Given the description of an element on the screen output the (x, y) to click on. 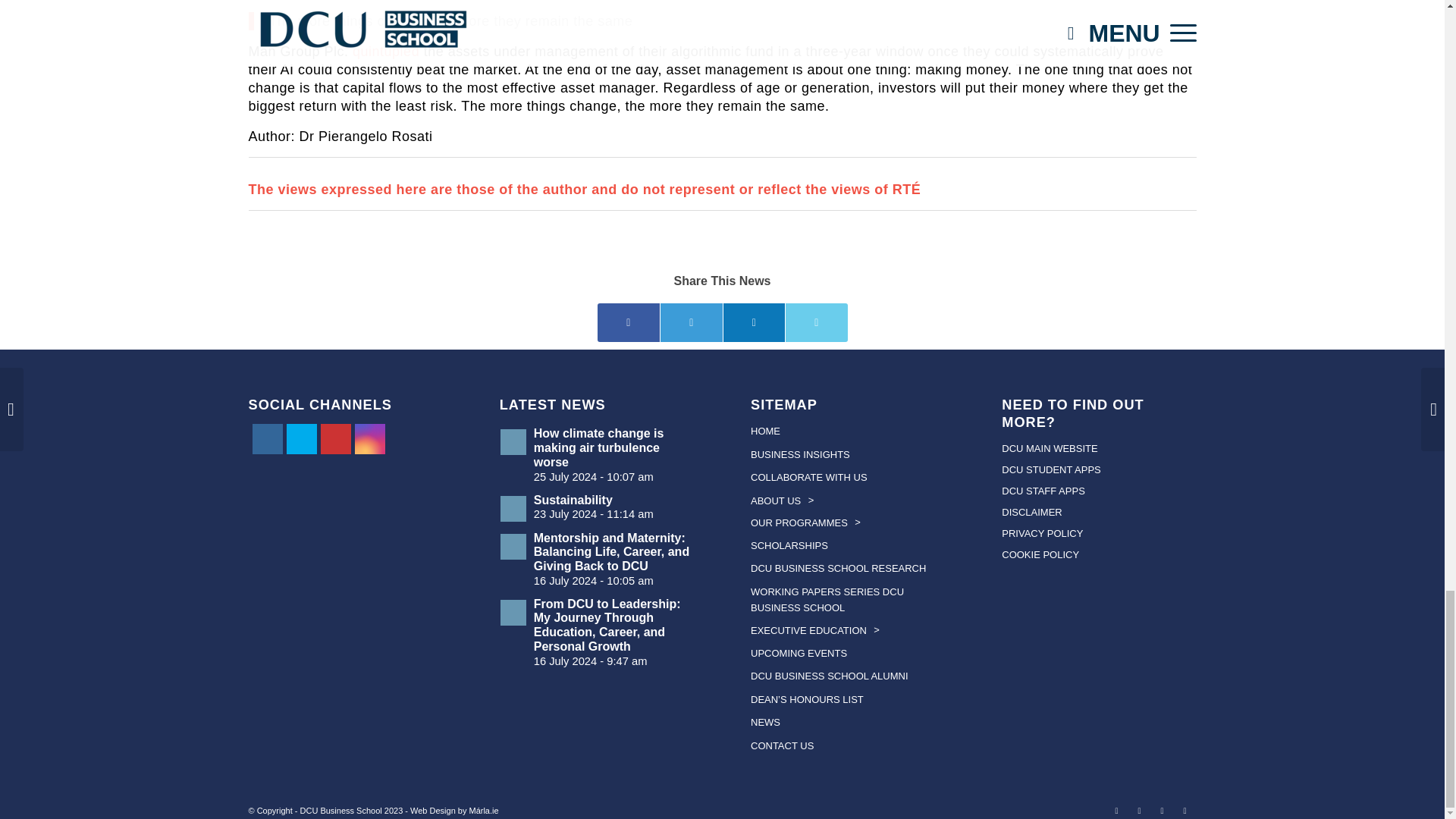
YouTube (335, 438)
Facebook (266, 438)
Instagram (368, 438)
How climate change is making air turbulence worse (596, 454)
Twitter (300, 438)
